Given the description of an element on the screen output the (x, y) to click on. 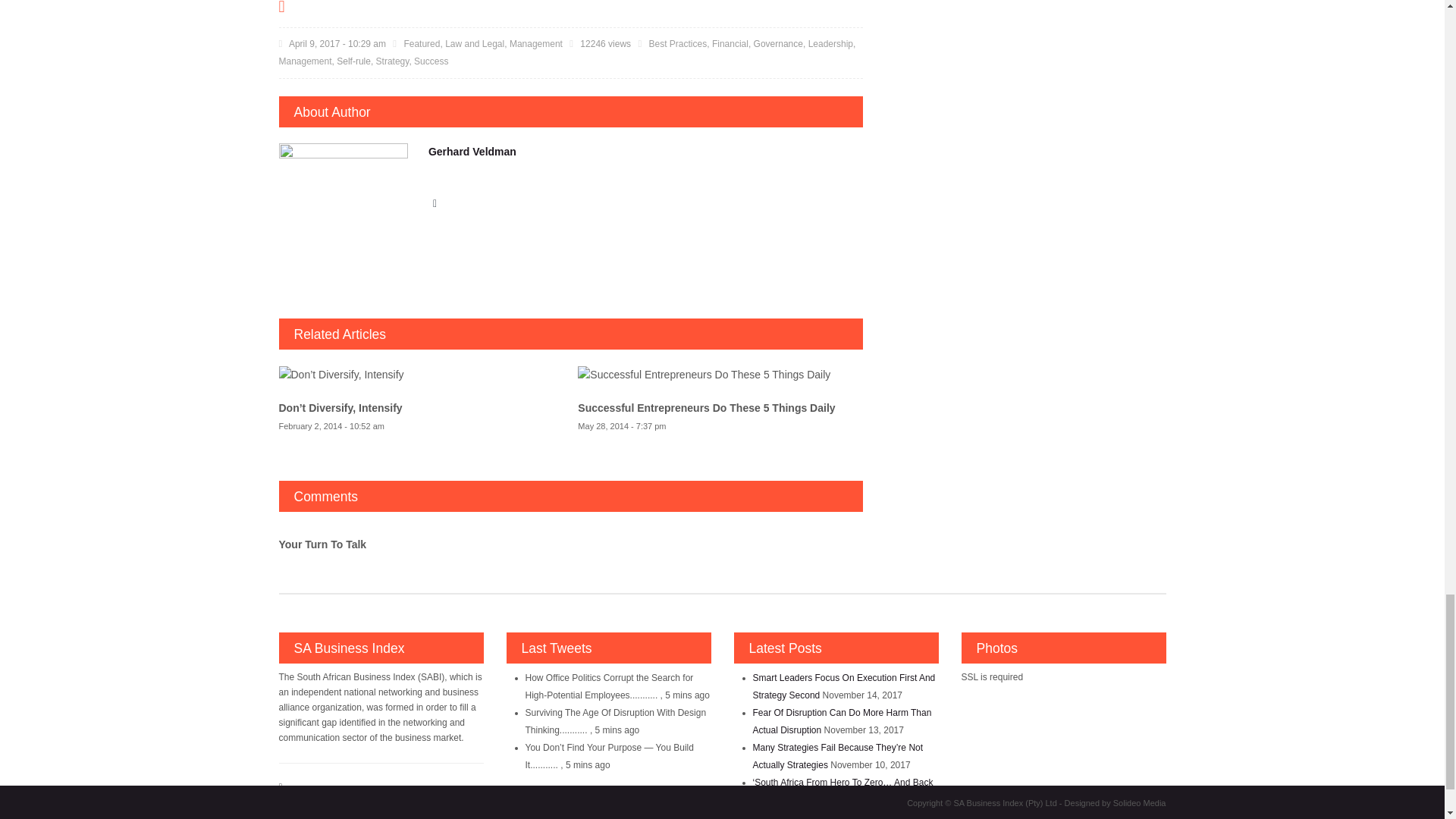
Management (535, 43)
Fear Of Disruption Can Do More Harm Than Actual Disruption (841, 721)
Law and Legal (474, 43)
Featured (421, 43)
View all posts in Featured (421, 43)
View all posts in Management (535, 43)
View all posts in Law and Legal (474, 43)
Smart Leaders Focus On Execution First And Strategy Second (843, 686)
Posts by Gerhard Veldman (472, 151)
